Given the description of an element on the screen output the (x, y) to click on. 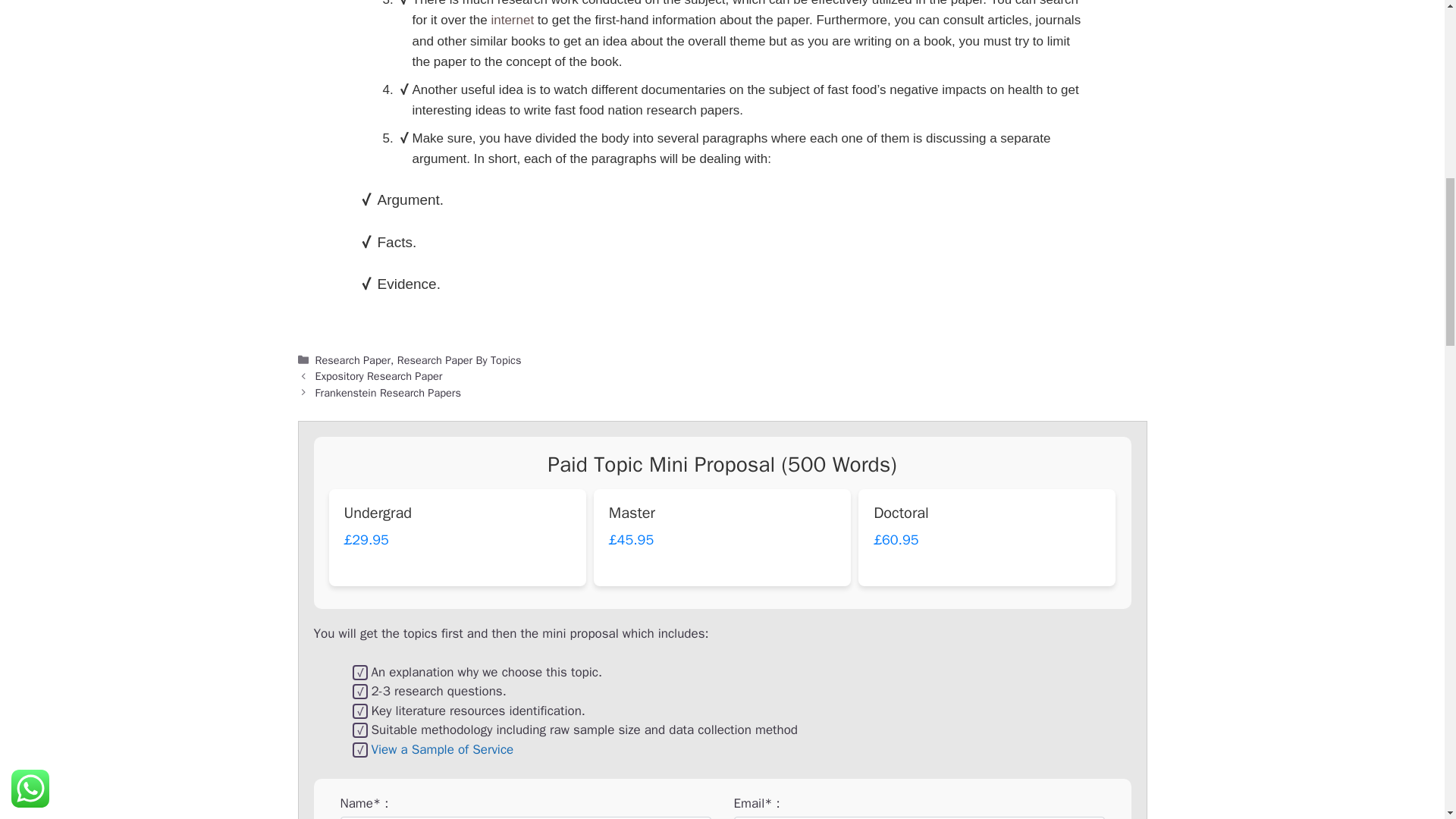
internet (512, 20)
Research Paper (352, 359)
Frankenstein Research Papers (388, 392)
View a Sample of Service (442, 749)
Research Paper By Topics (459, 359)
Expository Research Paper (378, 376)
